Given the description of an element on the screen output the (x, y) to click on. 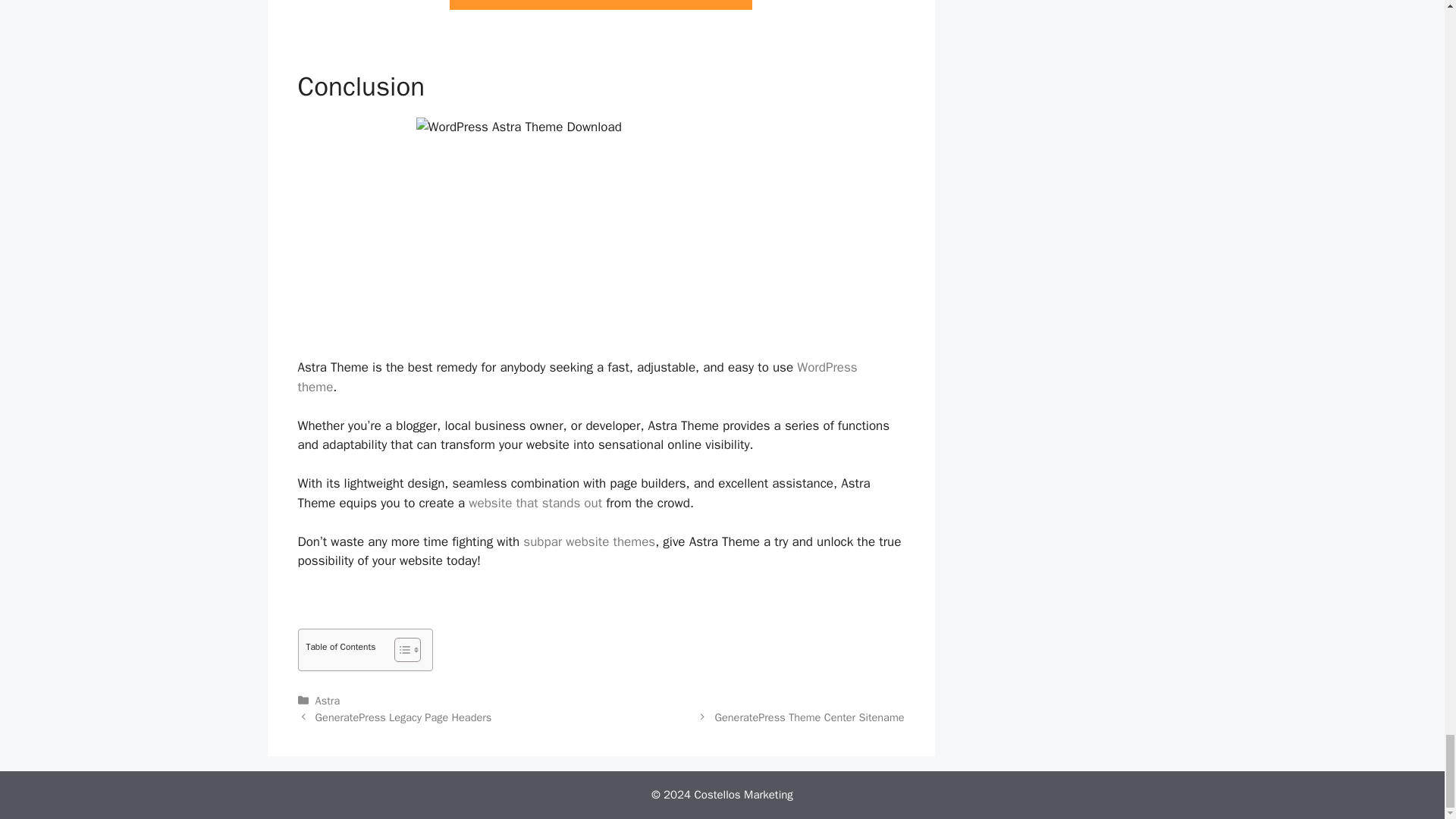
WordPress theme (577, 376)
Use Astra Theme For Free Today (600, 4)
website that stands out (535, 503)
subpar website themes (588, 541)
